Given the description of an element on the screen output the (x, y) to click on. 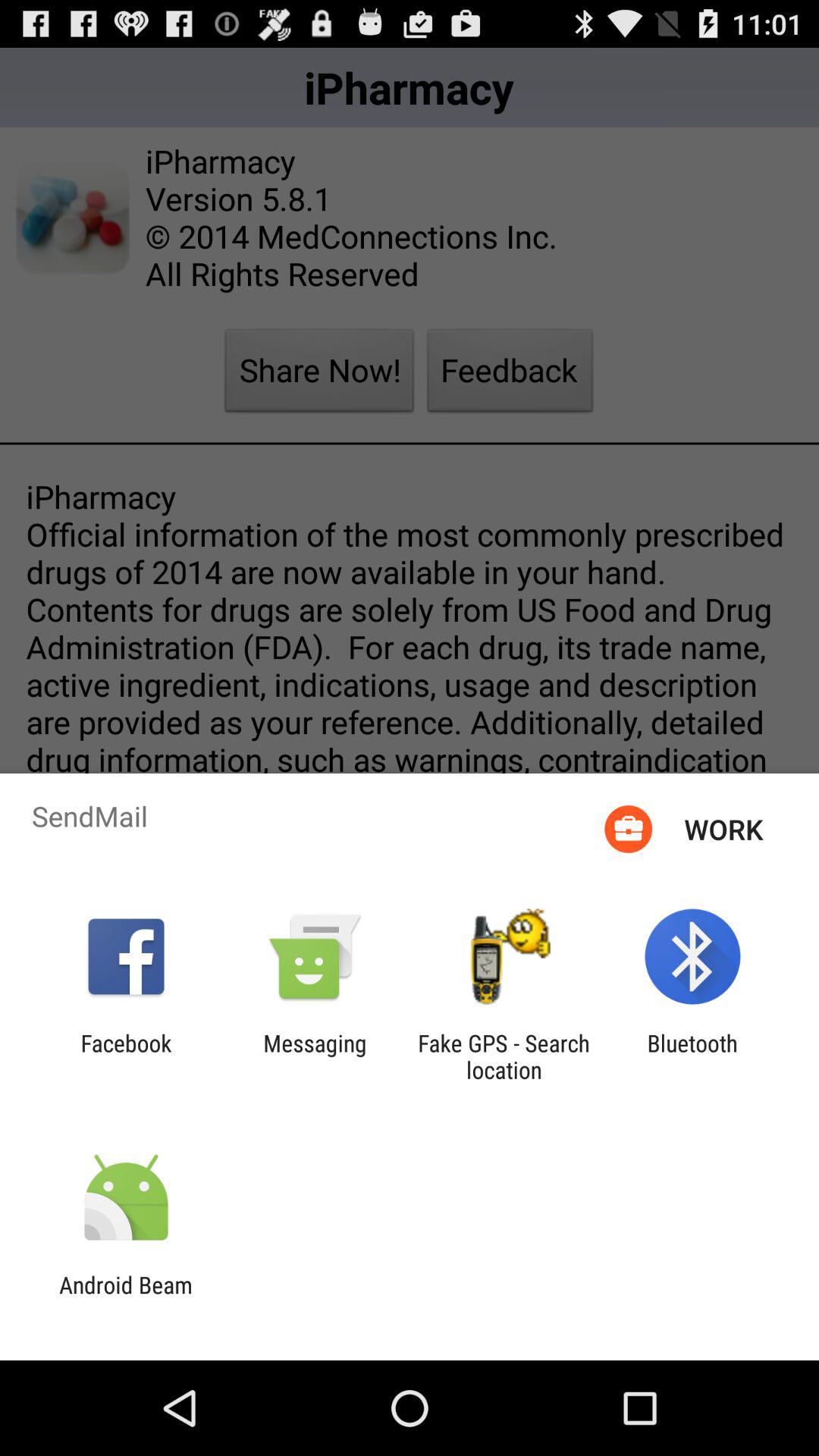
scroll to messaging app (314, 1056)
